Given the description of an element on the screen output the (x, y) to click on. 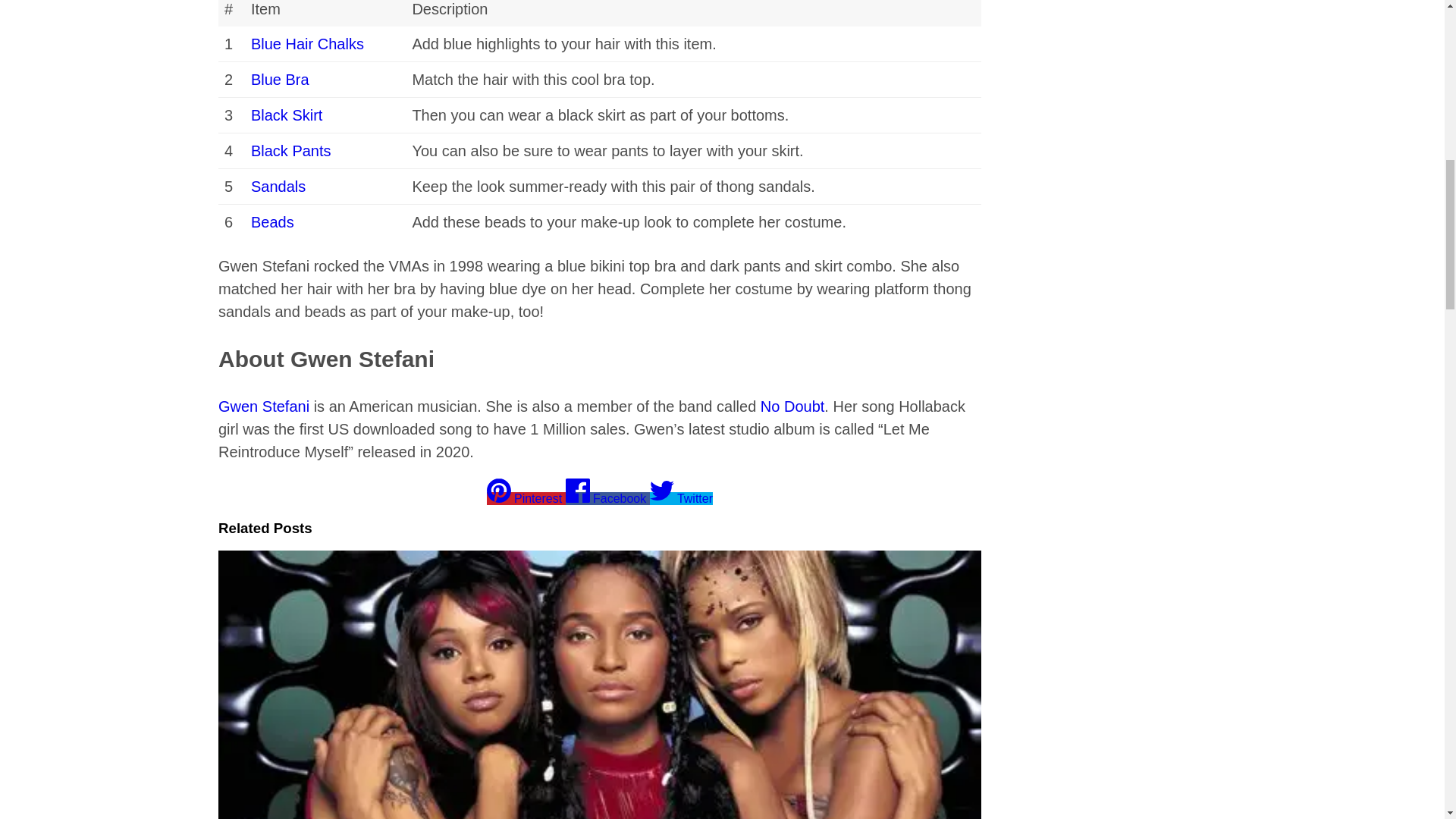
Black Pants (290, 150)
No Doubt (792, 406)
Pinterest (526, 498)
Sandals (277, 186)
Twitter (681, 498)
Black Skirt (285, 115)
Beads (272, 221)
Share on Facebook (607, 498)
Share on Twitter (681, 498)
Gwen Stefani (263, 406)
Blue Bra (279, 79)
Blue Hair Chalks (307, 44)
Facebook (607, 498)
Share on Pinterest (526, 498)
